Given the description of an element on the screen output the (x, y) to click on. 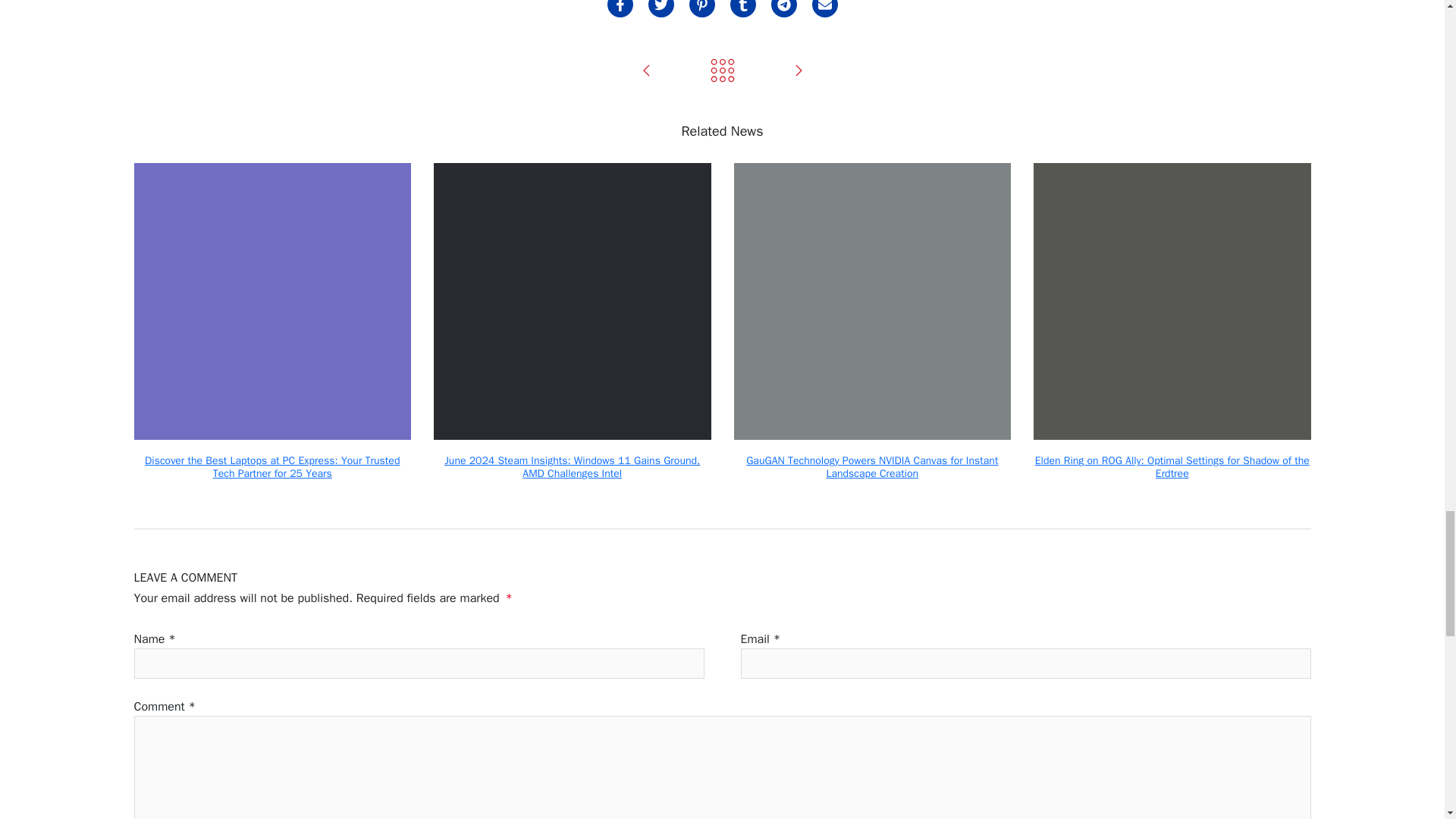
Share on Pinterest (701, 8)
Share on Email (823, 8)
No Man's Sky Receives Massive New Omega Update (646, 70)
Back to Tech News (722, 70)
Share on Facebook (619, 8)
Share on Twitter (659, 8)
Share on Telegram (783, 8)
Share on Tumblr (742, 8)
